Given the description of an element on the screen output the (x, y) to click on. 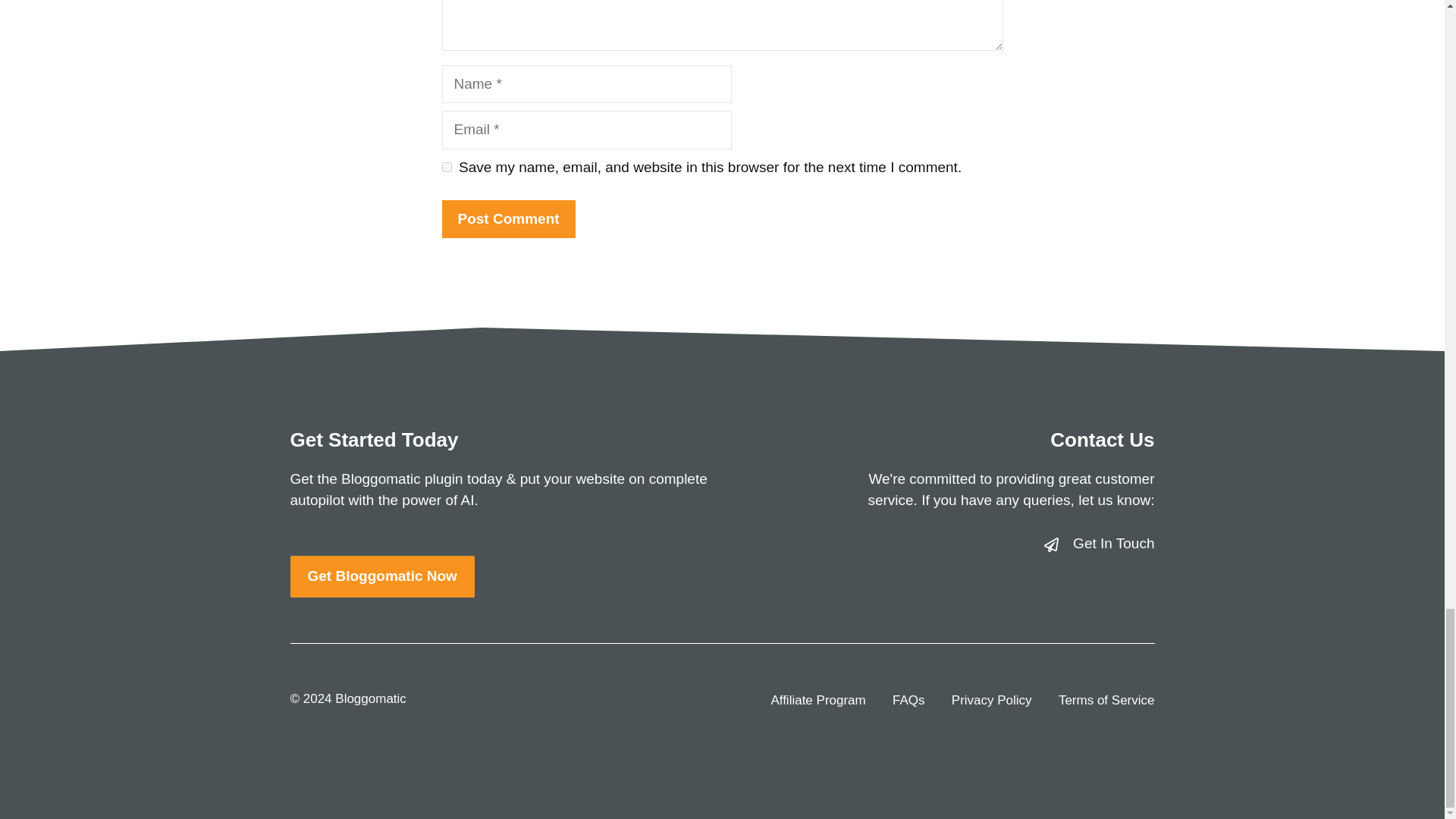
Get In Touch (1113, 543)
Affiliate Program (817, 700)
Post Comment (508, 219)
Privacy Policy (992, 700)
yes (446, 166)
Get Bloggomatic Now (381, 576)
Post Comment (508, 219)
Terms of Service (1106, 700)
FAQs (908, 700)
